Given the description of an element on the screen output the (x, y) to click on. 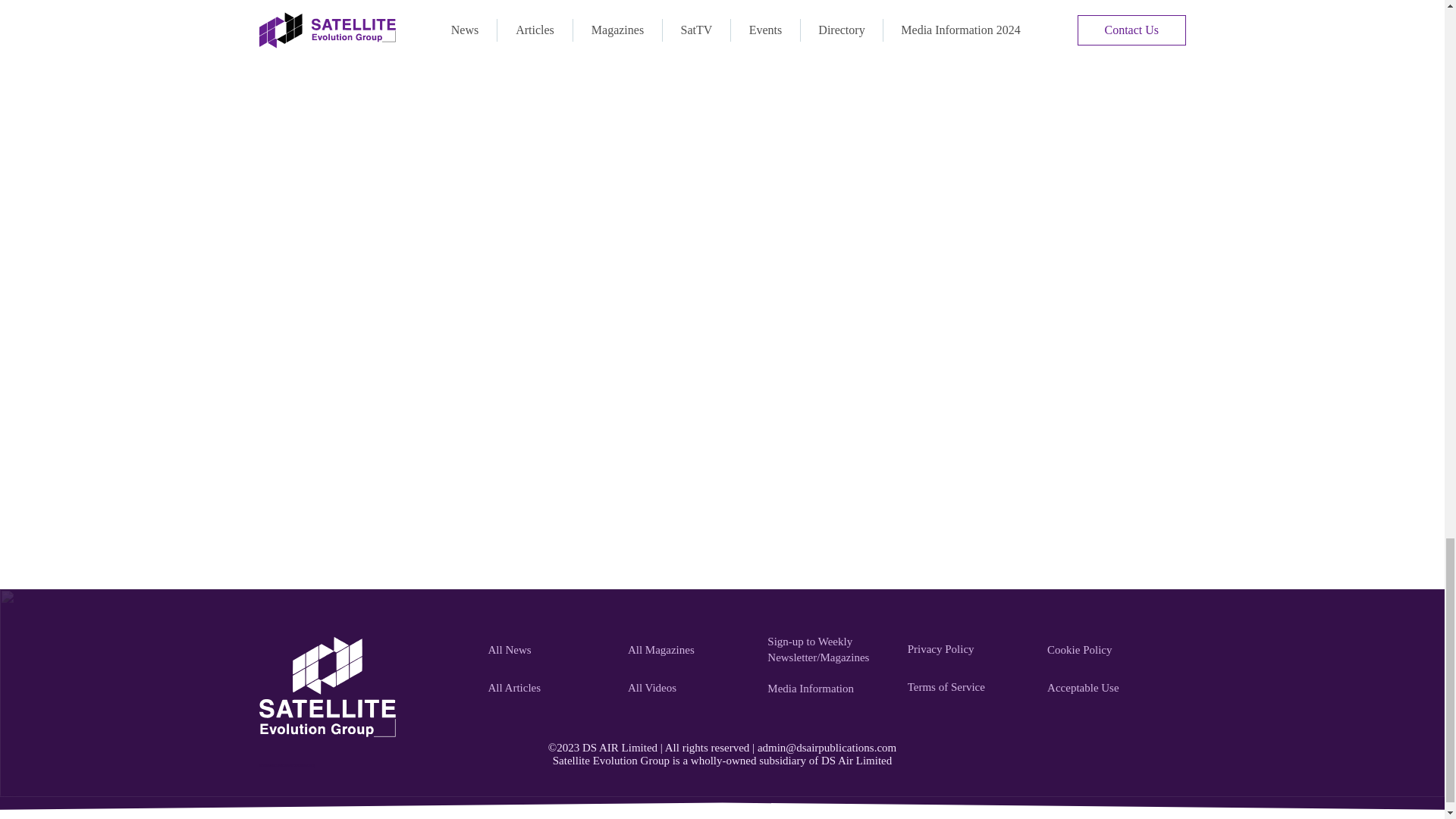
Acceptable Use (1108, 688)
Cookie Policy (1108, 650)
All News (549, 650)
Privacy Policy (968, 648)
Media Information (828, 688)
All Articles (549, 688)
Terms of Service (968, 686)
All Videos (689, 688)
All Magazines (689, 650)
